Given the description of an element on the screen output the (x, y) to click on. 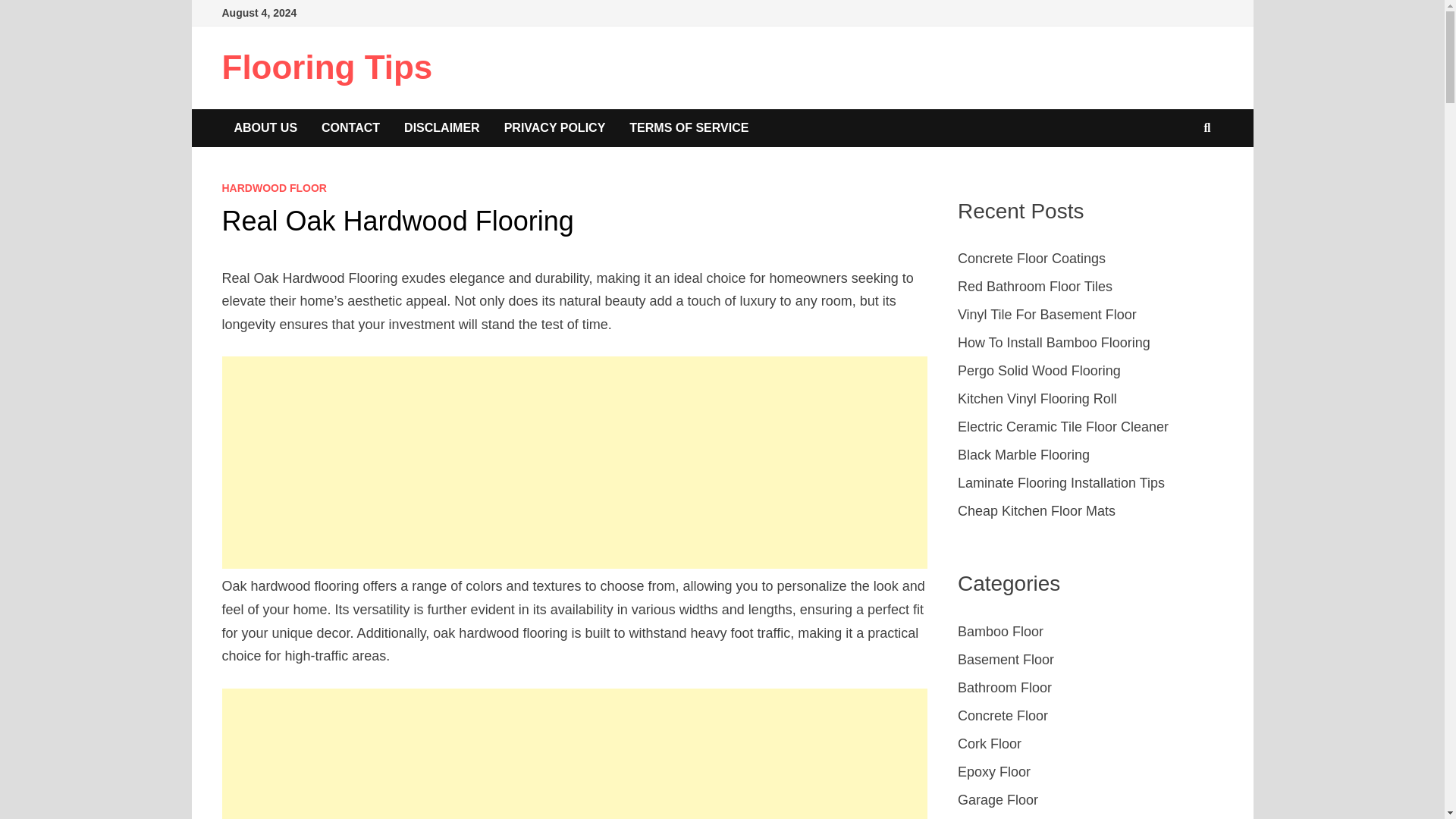
How To Install Bamboo Flooring (1054, 342)
ABOUT US (264, 127)
TERMS OF SERVICE (688, 127)
PRIVACY POLICY (554, 127)
Red Bathroom Floor Tiles (1035, 286)
Vinyl Tile For Basement Floor (1047, 314)
DISCLAIMER (441, 127)
Concrete Floor Coatings (1031, 258)
HARDWOOD FLOOR (273, 187)
CONTACT (349, 127)
Flooring Tips (326, 66)
